Given the description of an element on the screen output the (x, y) to click on. 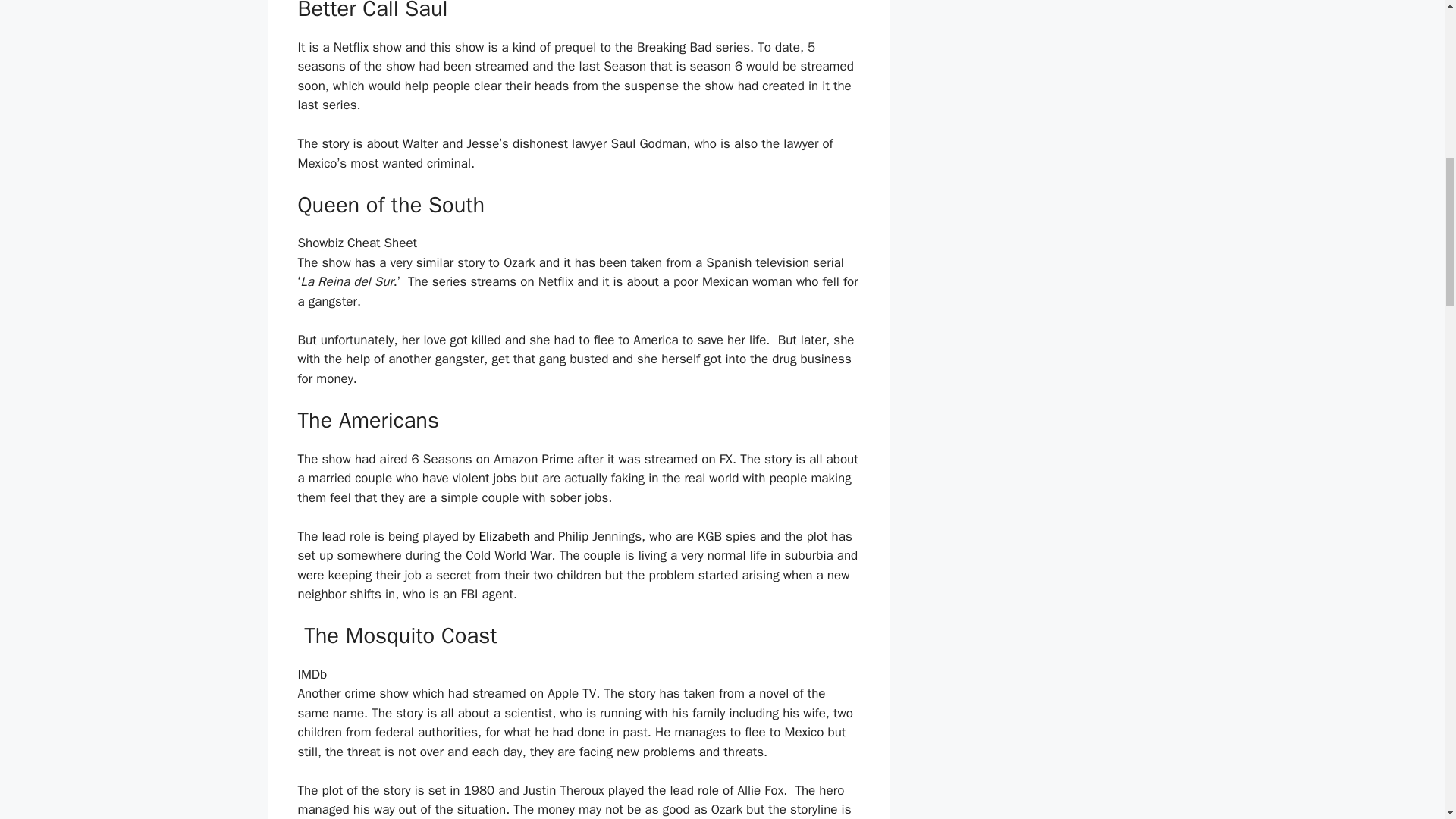
Scroll back to top (1406, 720)
